Given the description of an element on the screen output the (x, y) to click on. 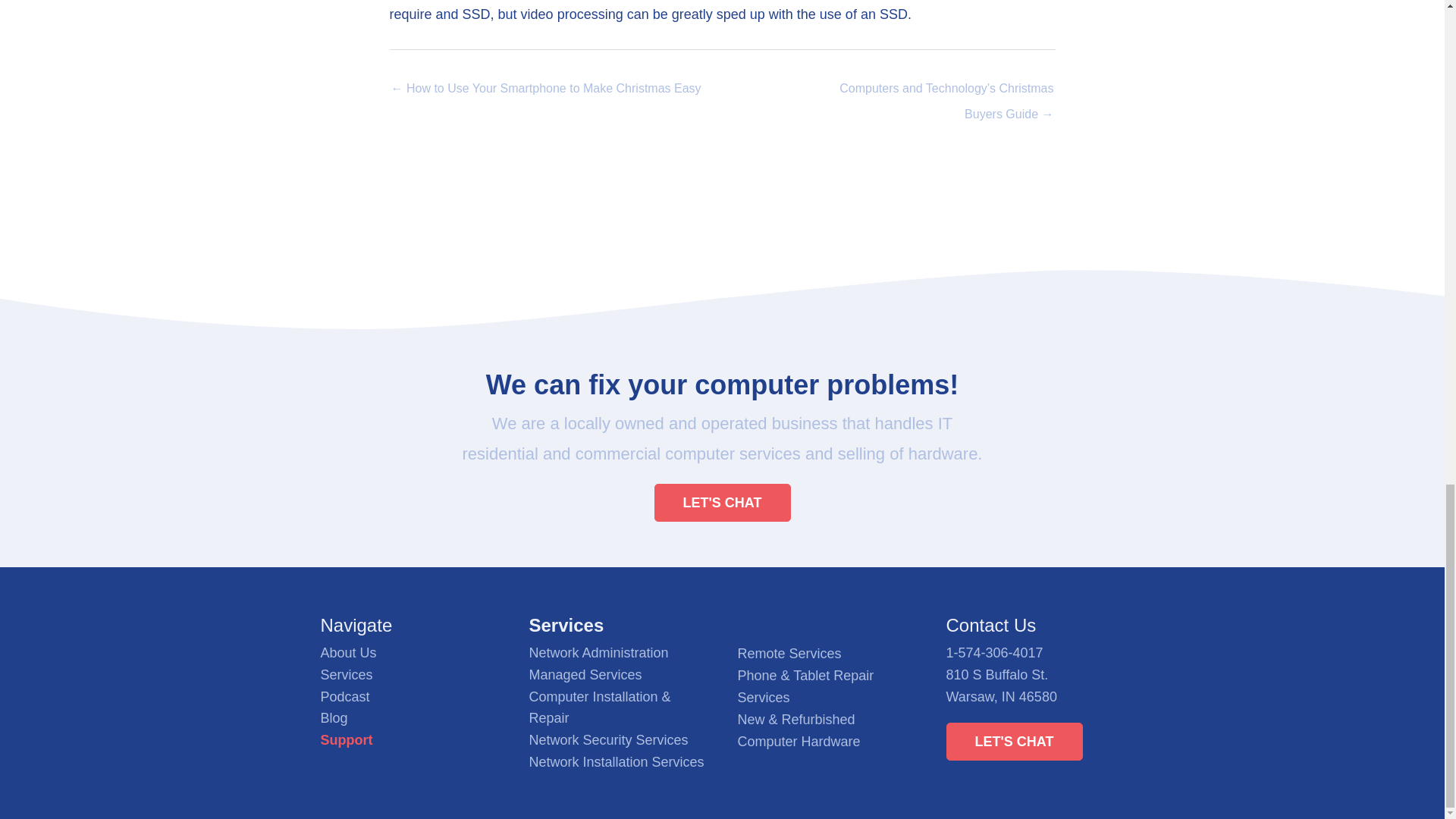
Remote Services (788, 653)
Network Administration (598, 652)
About Us (347, 652)
1-574-306-4017 (994, 652)
Podcast (344, 696)
LET'S CHAT (1014, 741)
LET'S CHAT (721, 502)
Services (346, 674)
Blog (333, 717)
Network Security Services (608, 739)
Support (346, 739)
Managed Services (585, 674)
Network Installation Services (616, 761)
